Given the description of an element on the screen output the (x, y) to click on. 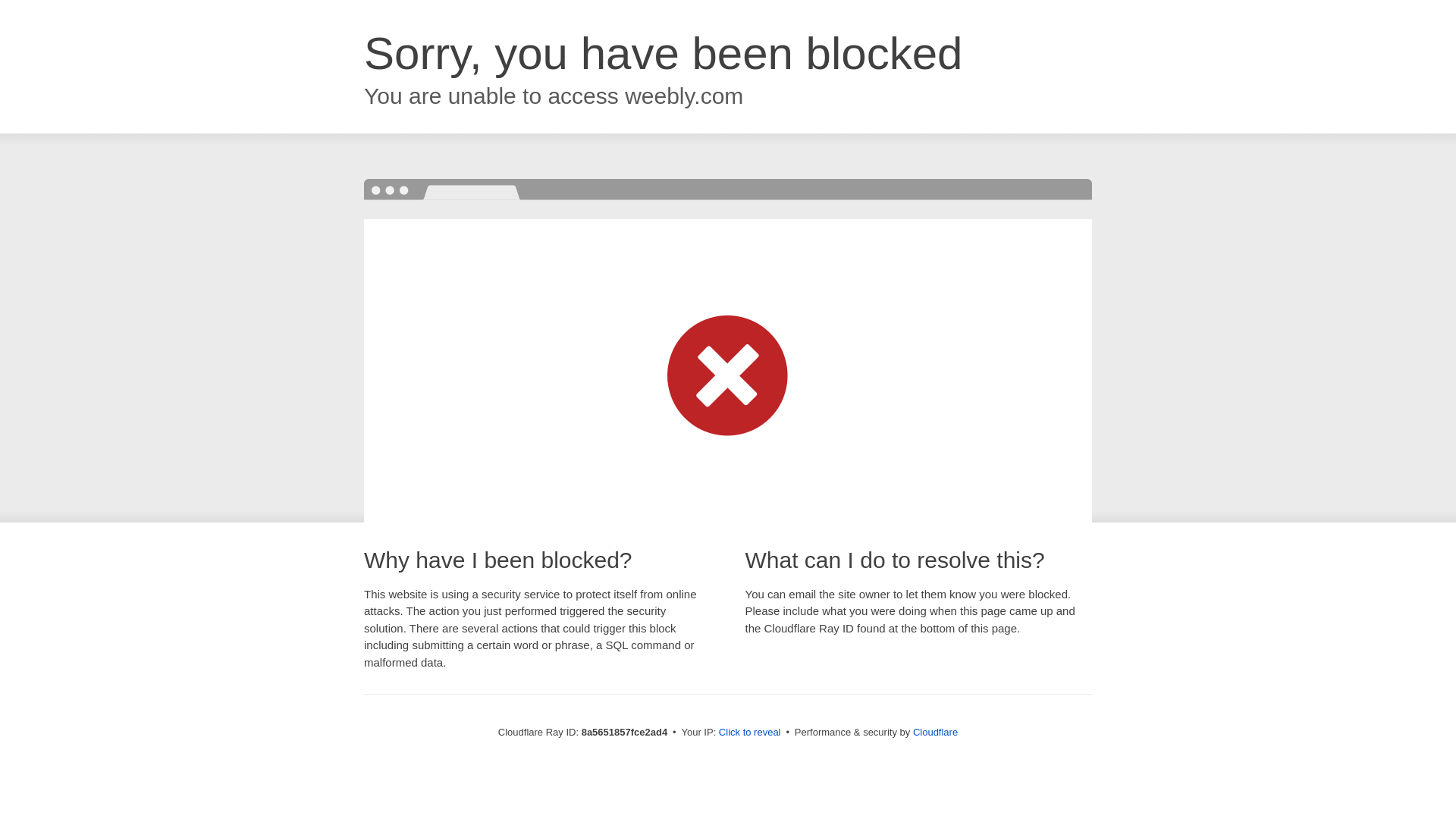
Click to reveal (749, 732)
Cloudflare (935, 731)
